Given the description of an element on the screen output the (x, y) to click on. 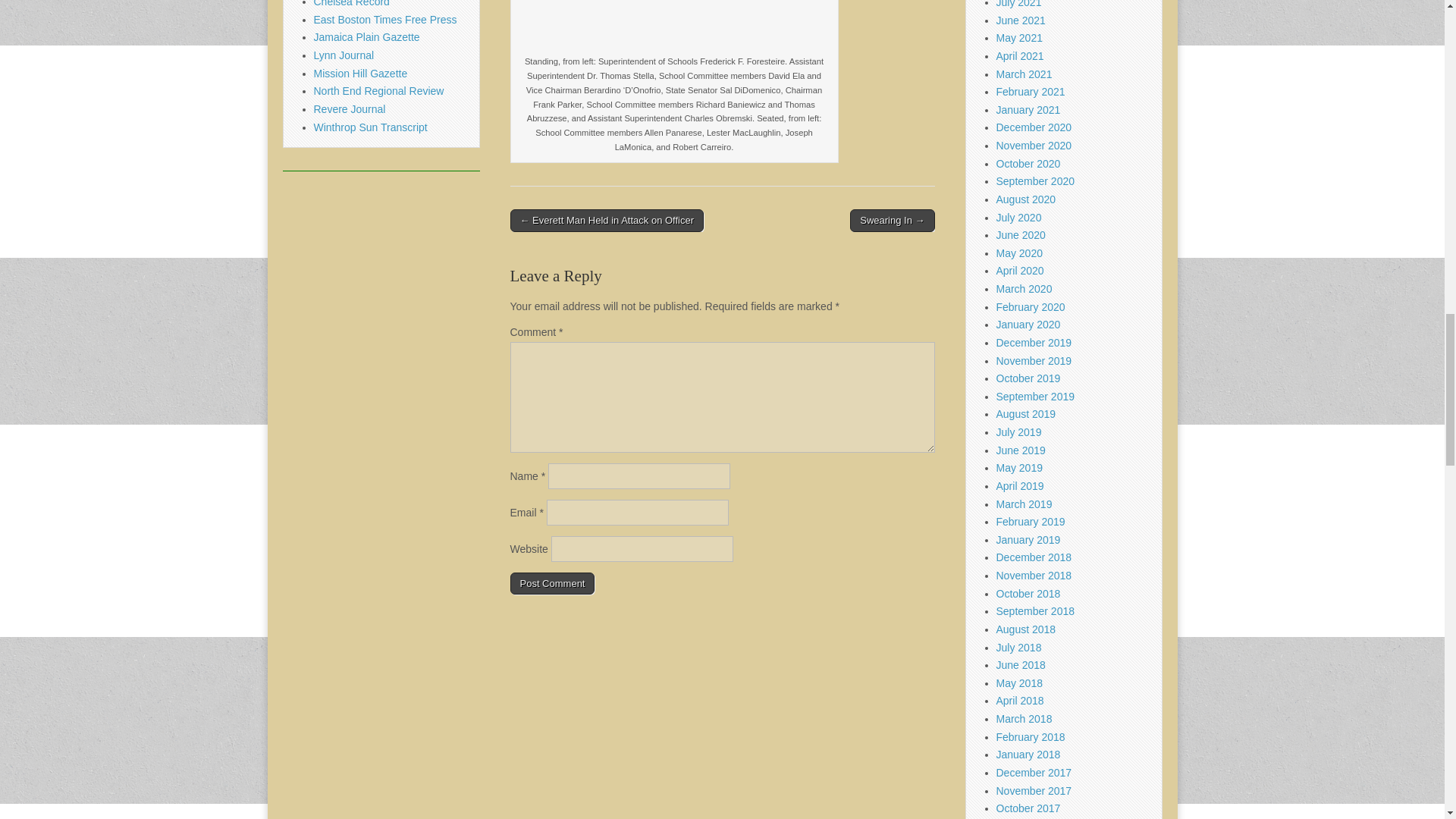
East Boston Times Free Press (385, 19)
Chelsea Record (352, 3)
Post Comment (551, 583)
Jamaica Plain Gazette (367, 37)
Post Comment (551, 583)
